Given the description of an element on the screen output the (x, y) to click on. 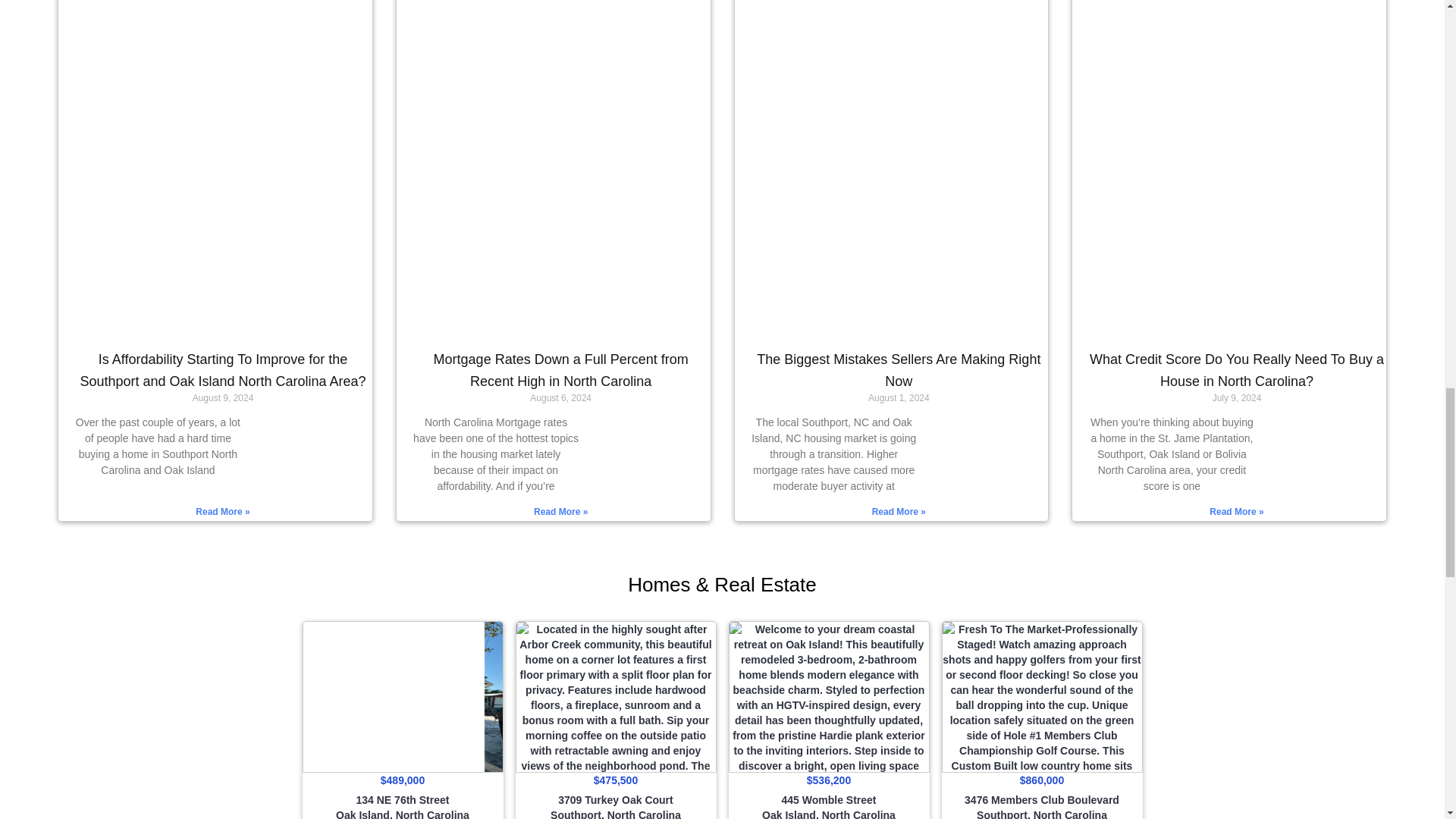
445  Womble Street  Oak Island, North Carolina (828, 696)
134 NE 76th Street  Oak Island, North Carolina (401, 696)
3476  Members Club Boulevard  Southport, North Carolina (1042, 696)
3709  Turkey Oak Court  Southport, North Carolina (615, 696)
